Given the description of an element on the screen output the (x, y) to click on. 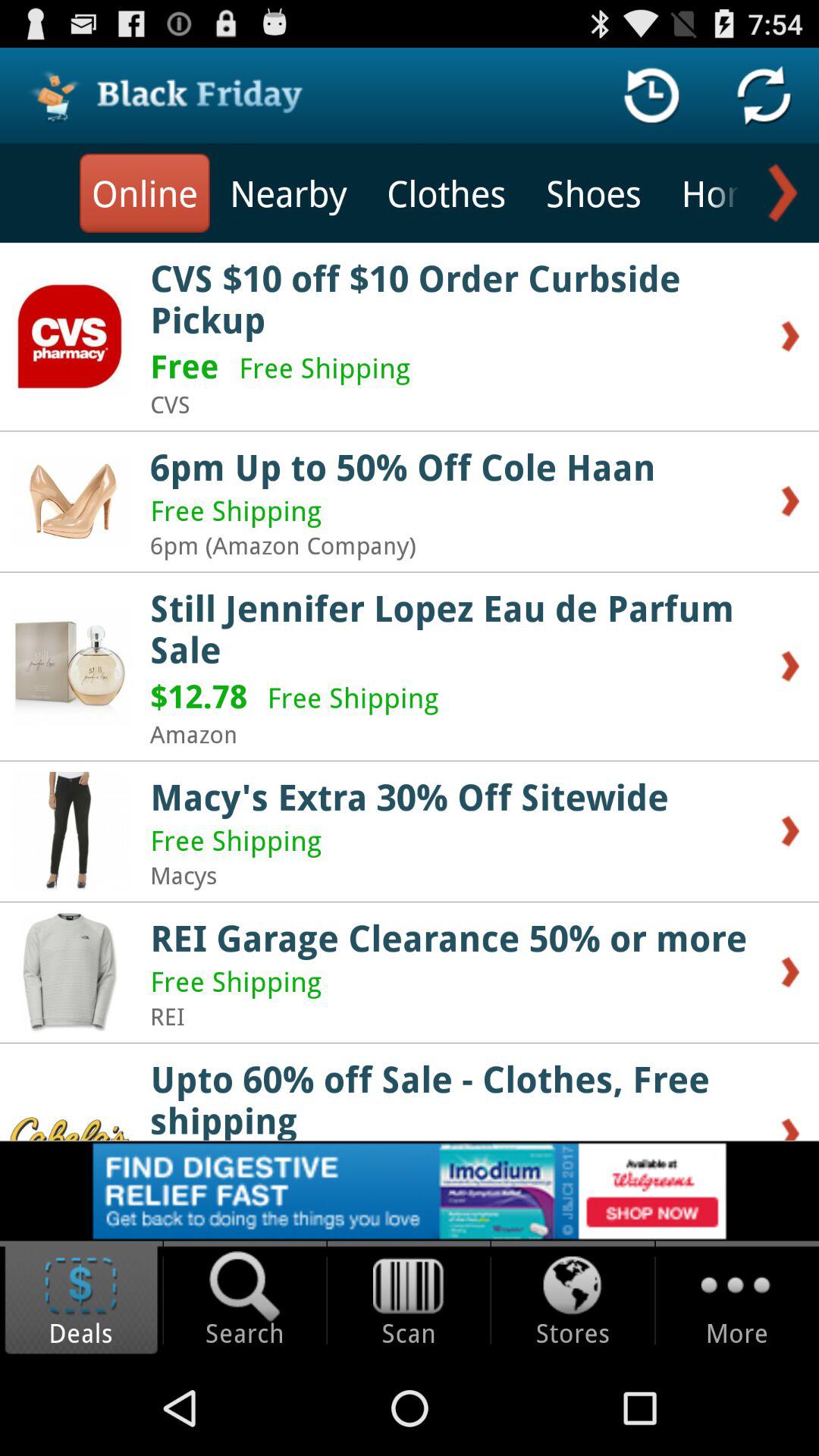
see more (779, 192)
